Given the description of an element on the screen output the (x, y) to click on. 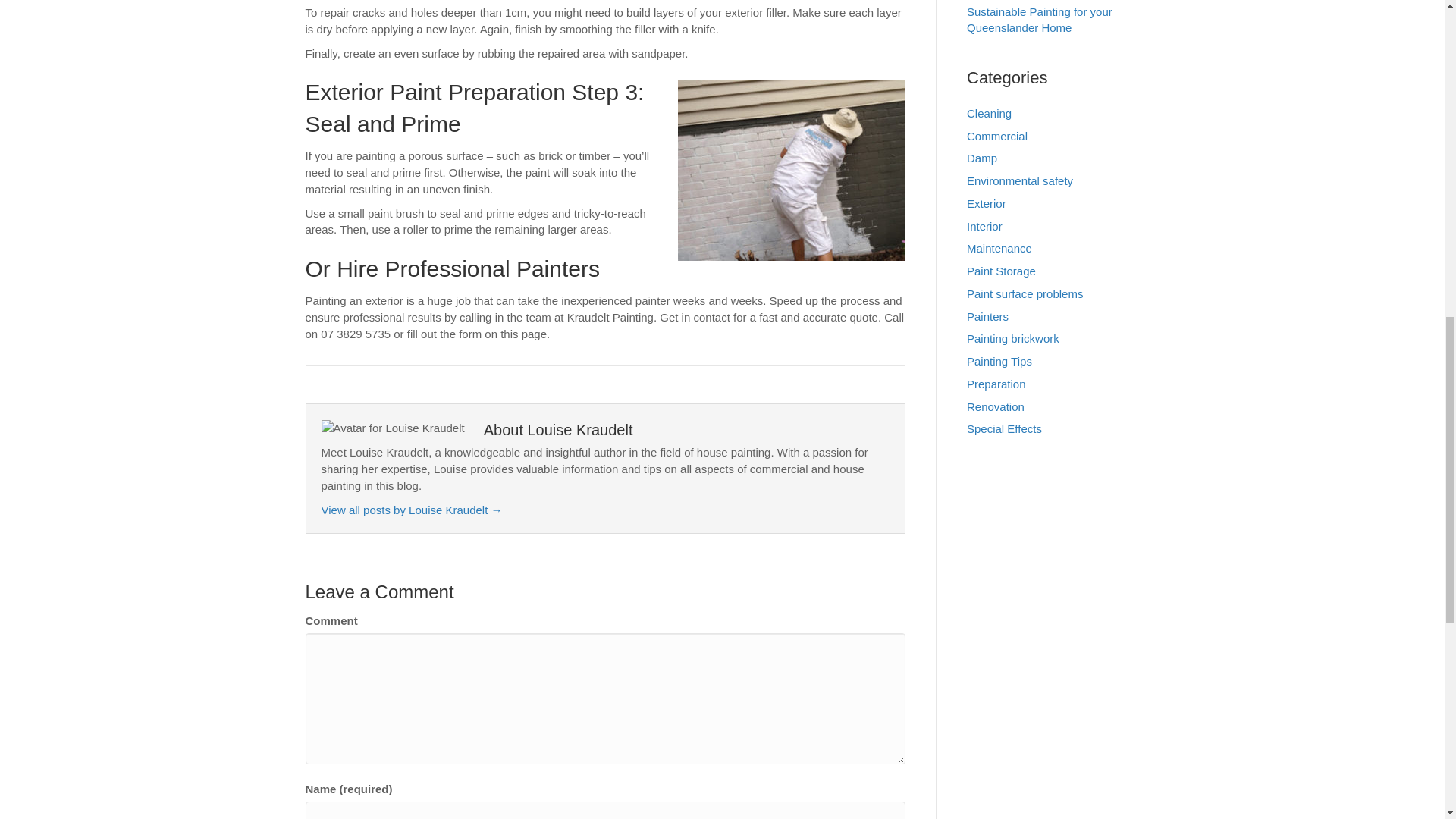
3 Steps for Perfect Exterior Paint Preparation 3 (791, 170)
